Given the description of an element on the screen output the (x, y) to click on. 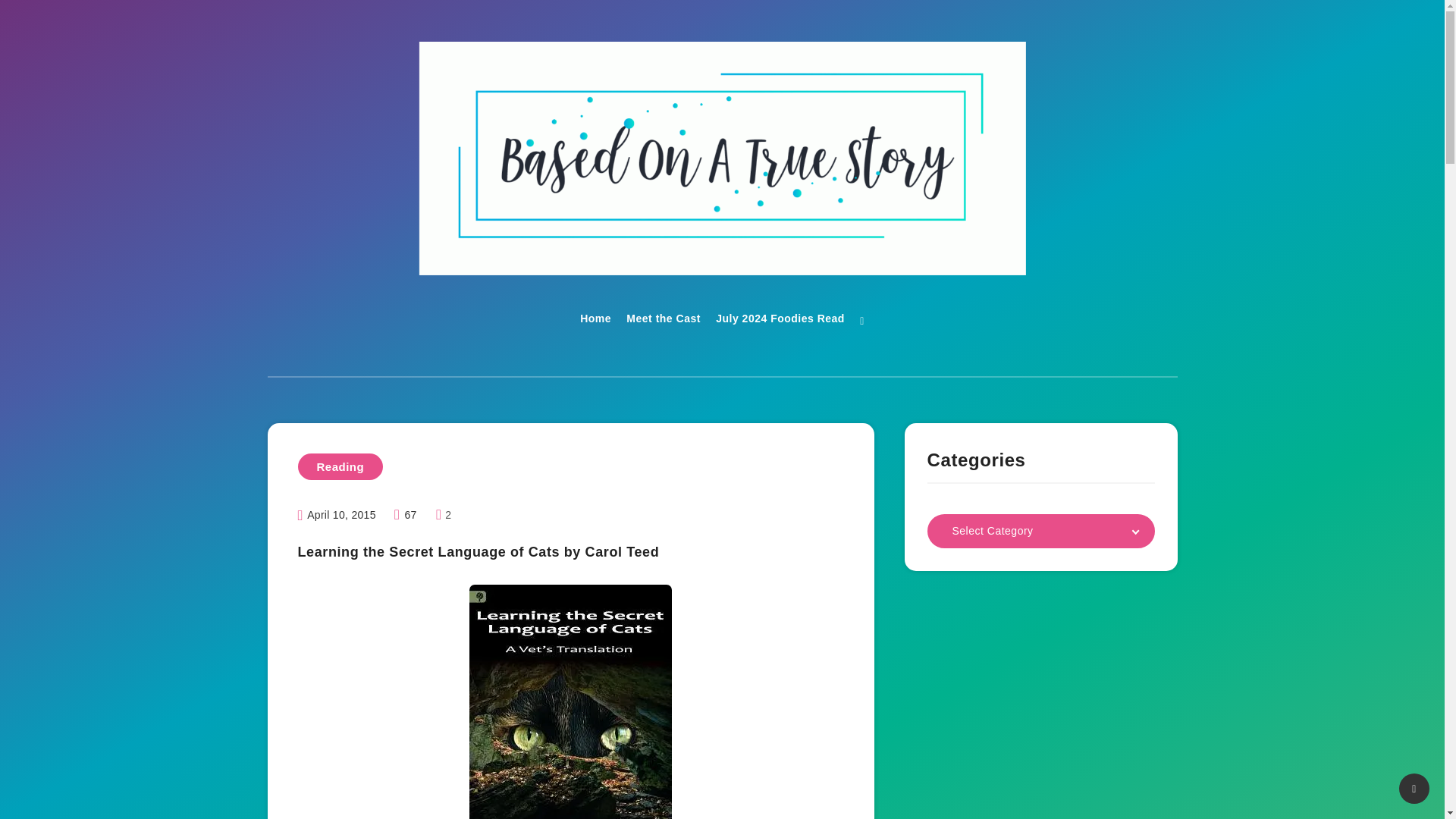
Home (595, 320)
Views (407, 514)
Go to comments (443, 514)
July 2024 Foodies Read (780, 320)
Reading (339, 466)
Learning the Secret Language of Cats by Carol Teed (569, 701)
Meet the Cast (663, 320)
2 (443, 514)
